Given the description of an element on the screen output the (x, y) to click on. 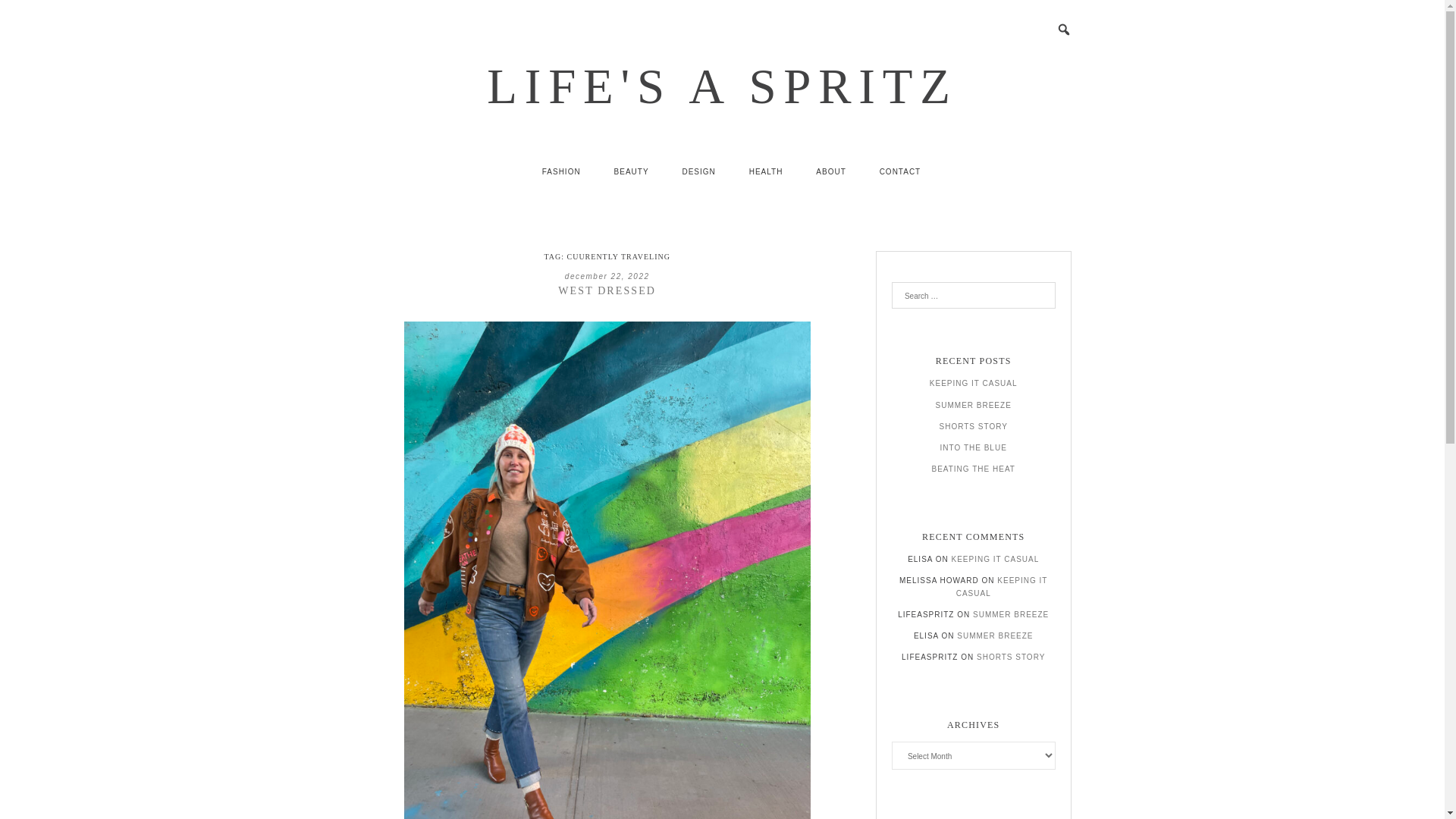
ABOUT (830, 171)
CONTACT (900, 171)
KEEPING IT CASUAL (973, 383)
KEEPING IT CASUAL (1002, 586)
INTO THE BLUE (973, 447)
HEALTH (765, 171)
SUMMER BREEZE (1010, 614)
BEAUTY (630, 171)
Search (31, 13)
december 22, 2022 (606, 275)
